Given the description of an element on the screen output the (x, y) to click on. 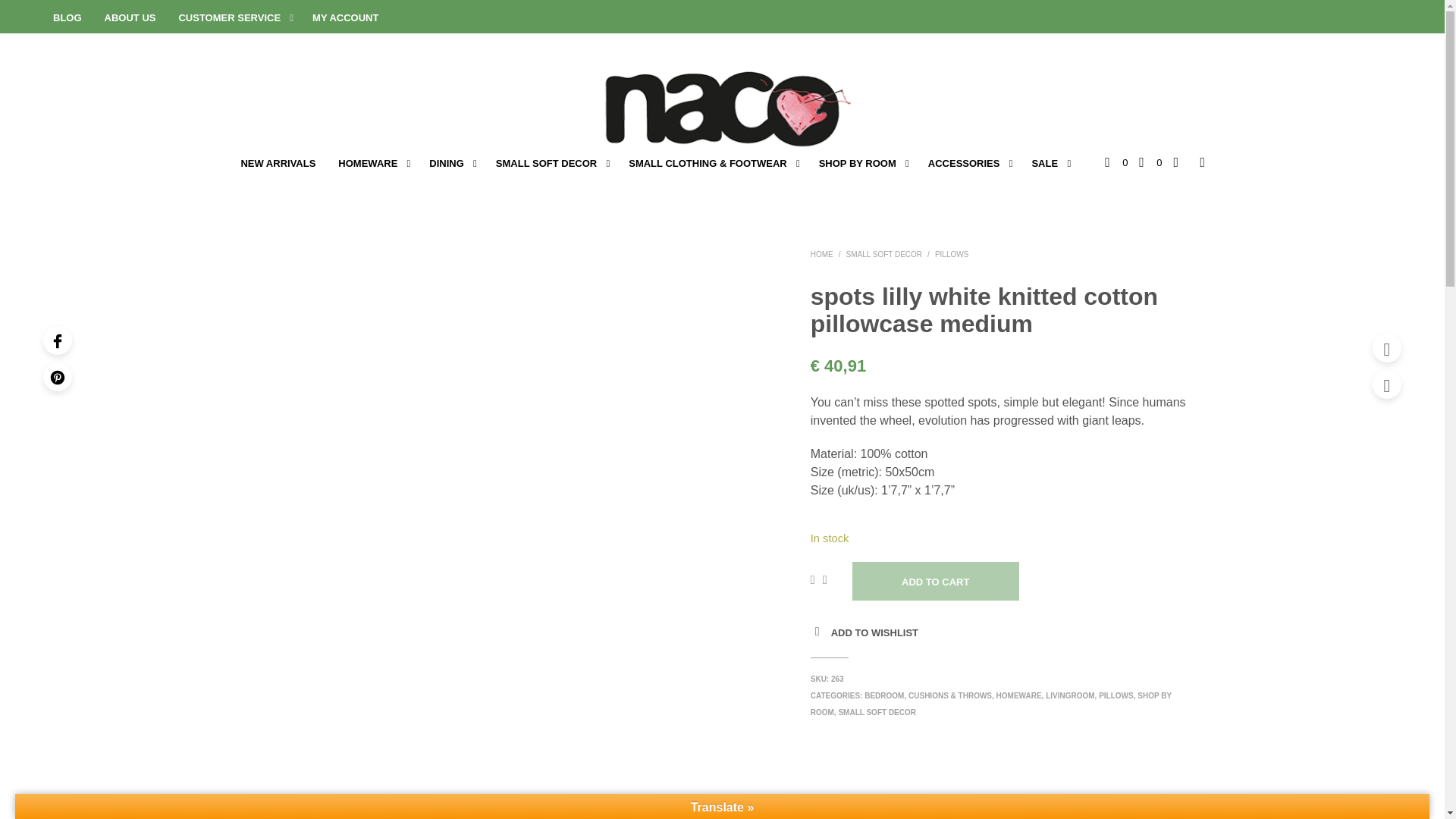
SMALL SOFT DECOR (546, 163)
BLOG (67, 17)
MY ACCOUNT (345, 17)
HOMEWARE (367, 163)
CUSTOMER SERVICE (229, 17)
DINING (446, 163)
NEW ARRIVALS (277, 163)
while supplies last (1044, 163)
ABOUT US (130, 17)
